Given the description of an element on the screen output the (x, y) to click on. 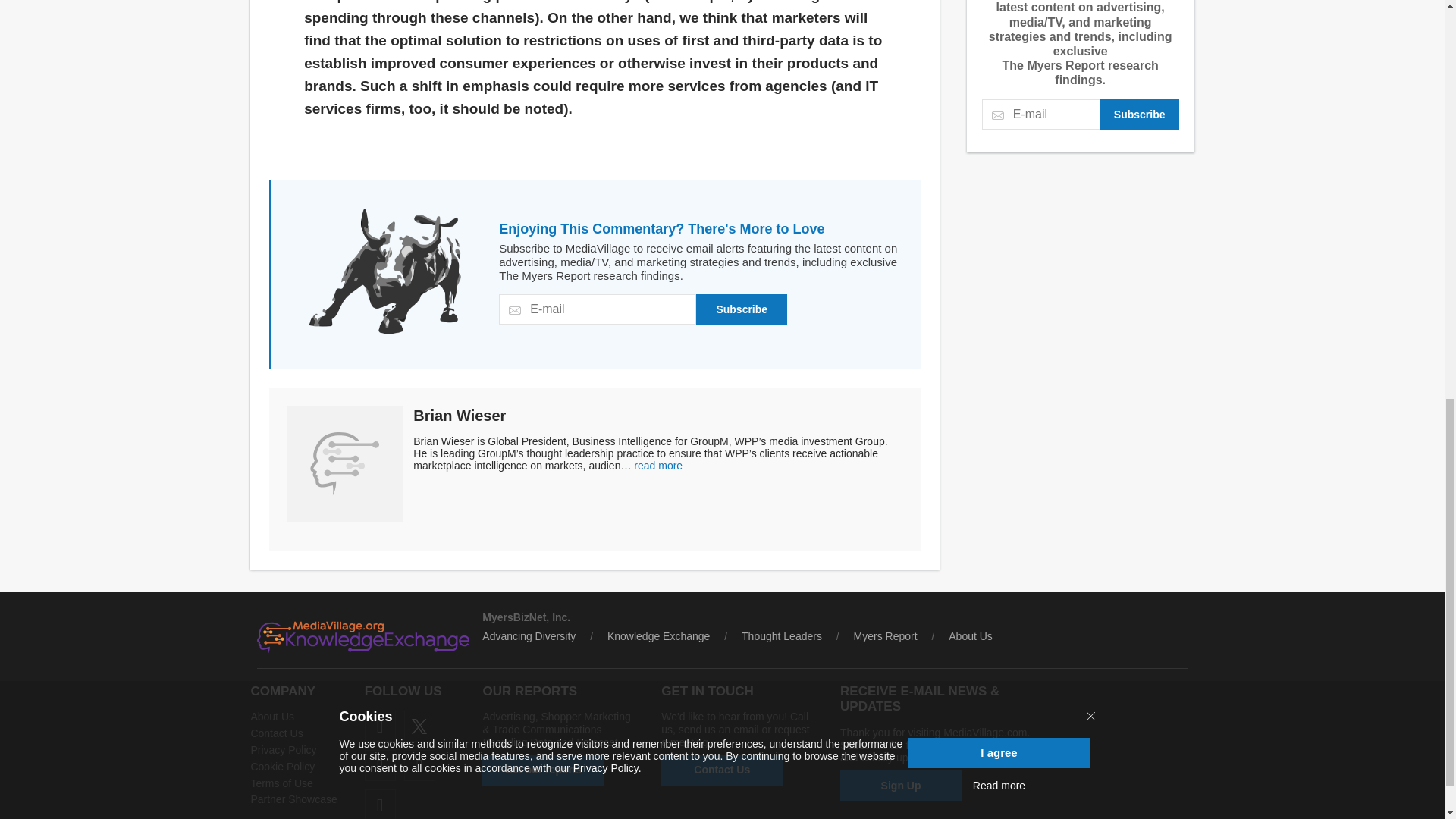
Follow us on Instagram (419, 765)
Follow us on Twitter (419, 726)
Follow us on Facebook (380, 726)
Rss (380, 804)
Follow us on LinkedIn (380, 765)
